Given the description of an element on the screen output the (x, y) to click on. 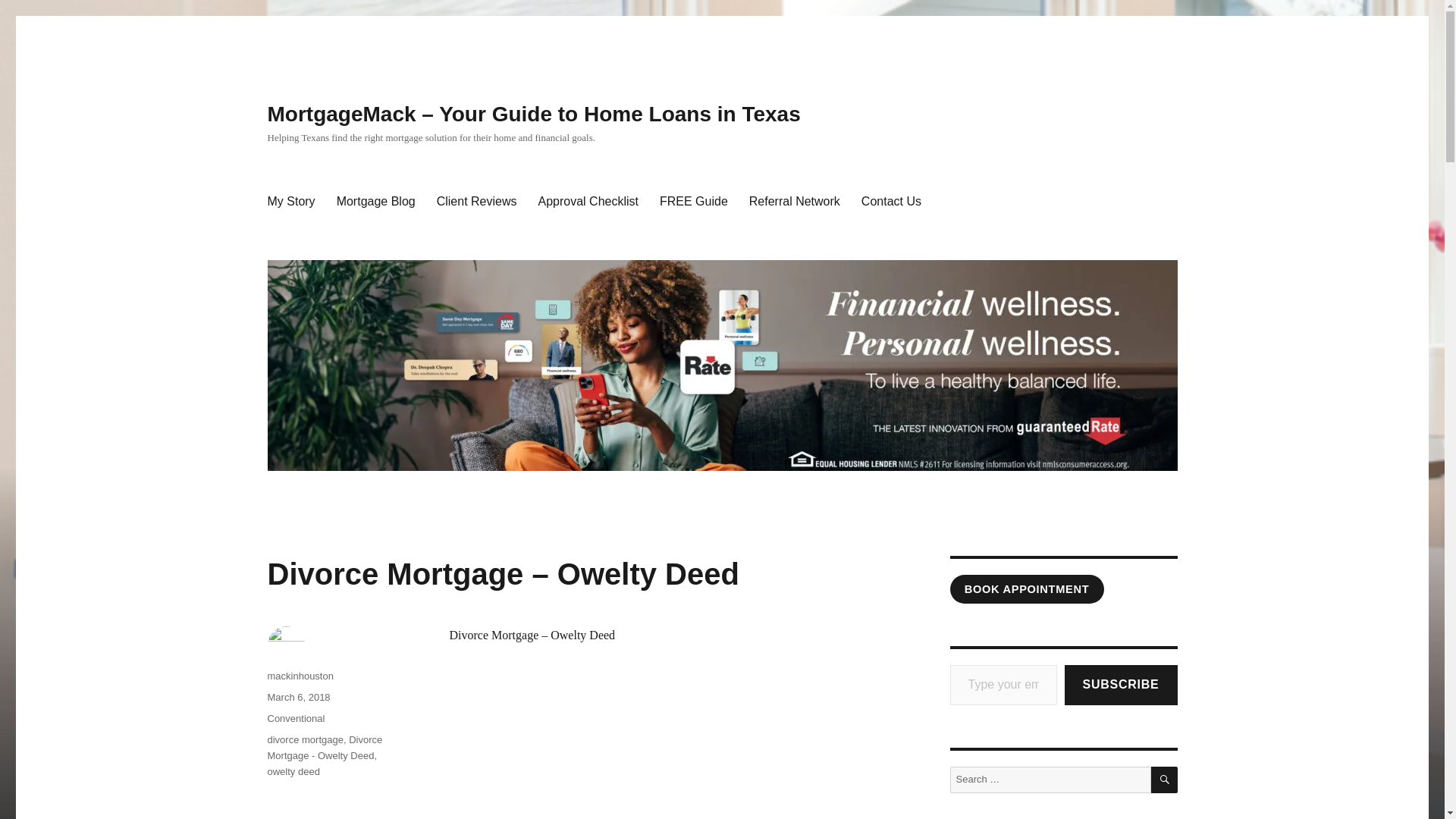
My Story (290, 201)
Conventional (295, 717)
FREE Guide (693, 201)
Please fill in this field. (1003, 685)
Client Reviews (476, 201)
Referral Network (794, 201)
Mortgage Blog (376, 201)
divorce mortgage (304, 739)
March 6, 2018 (298, 696)
Contact Us (890, 201)
